Given the description of an element on the screen output the (x, y) to click on. 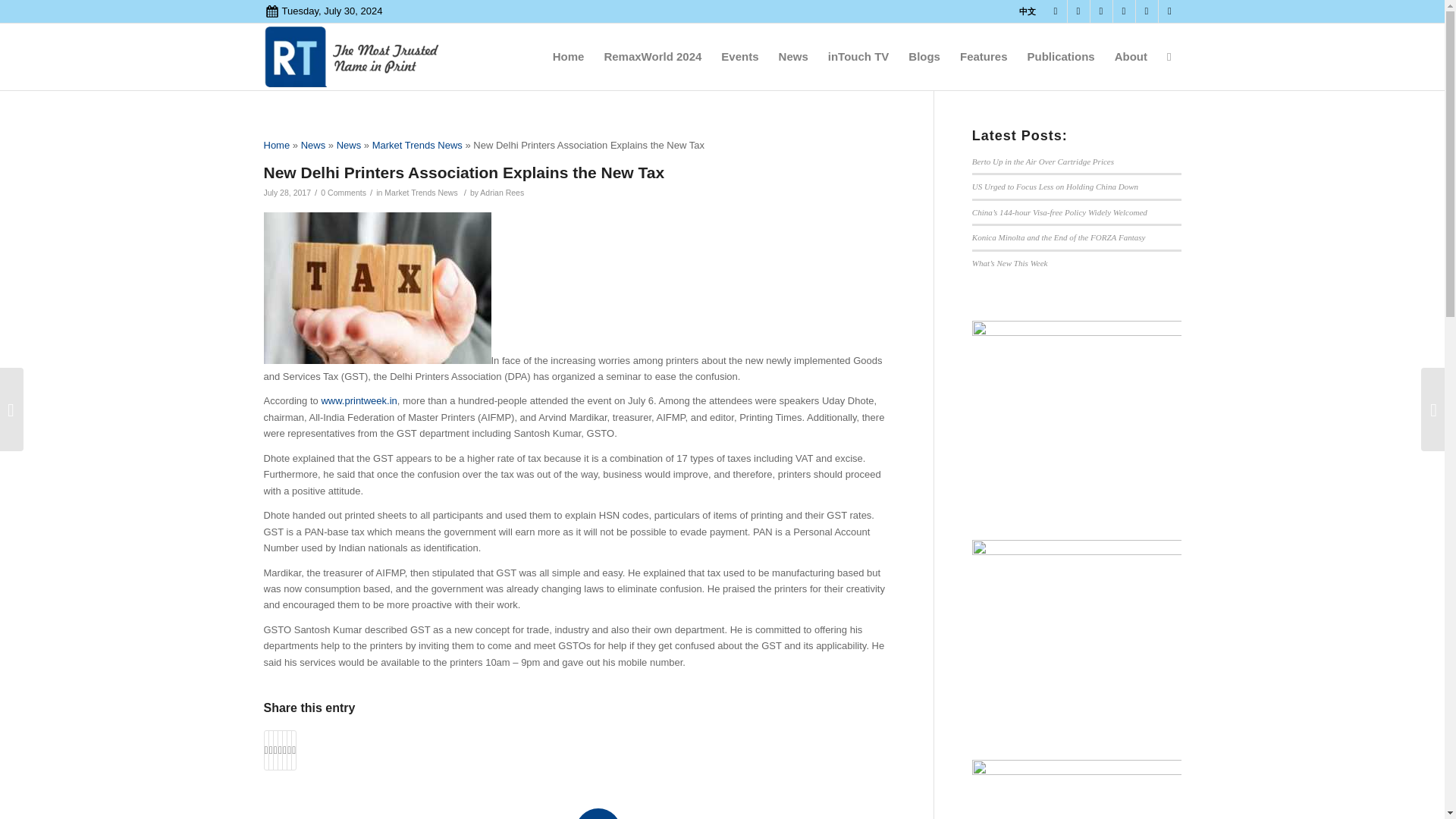
Vimeo (1124, 11)
LinkedIn (1101, 11)
Youtube (1146, 11)
Rss (1169, 11)
RemaxWorld 2024 (652, 56)
RT-logo-old-big-old-jiazi-3 (354, 56)
Twitter (1078, 11)
RemaxWorld 2024 (652, 56)
Facebook (1056, 11)
